Given the description of an element on the screen output the (x, y) to click on. 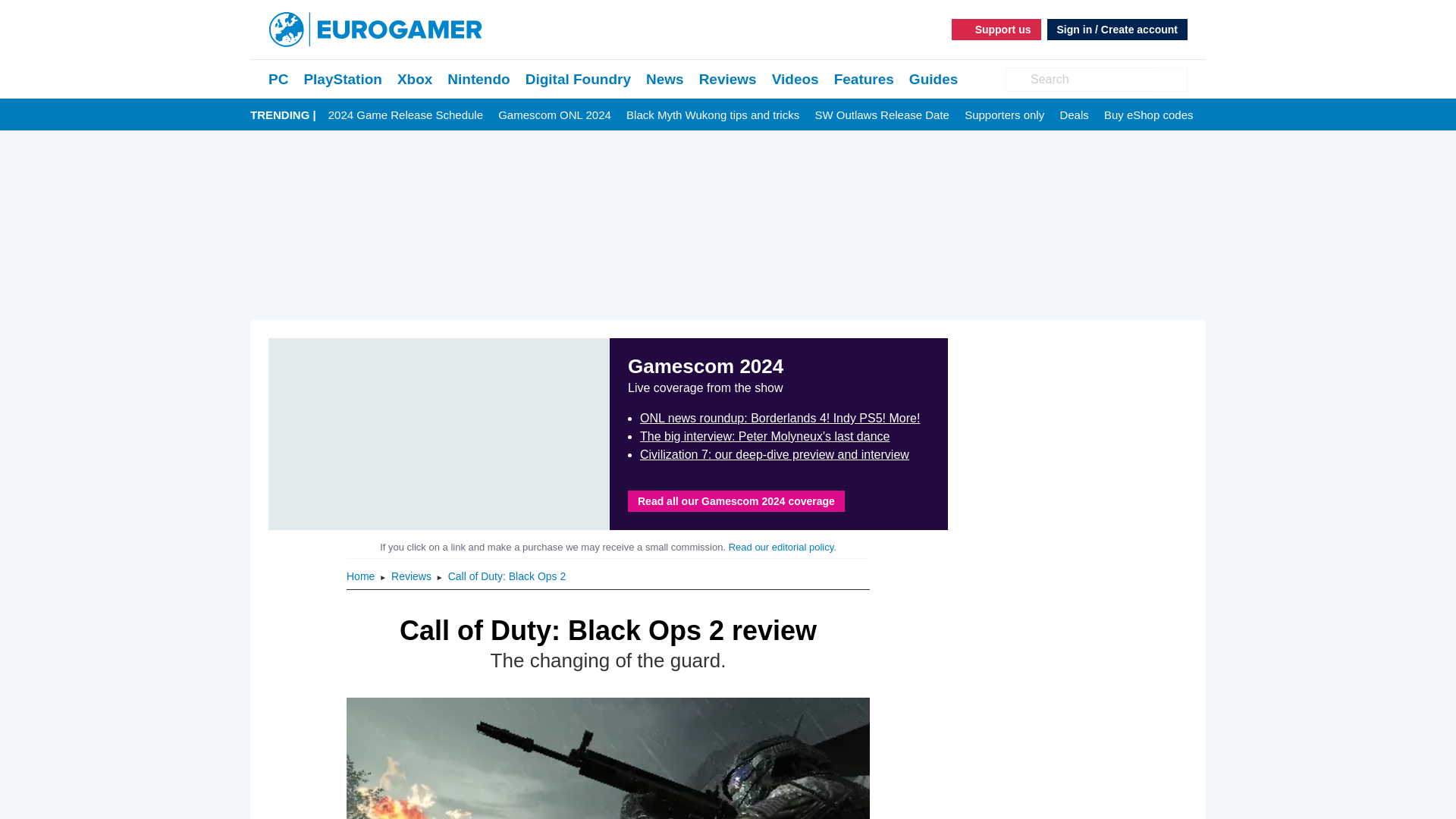
PlayStation (341, 78)
Xbox (414, 78)
Gamescom ONL 2024 (554, 114)
News (665, 78)
The big interview: Peter Molyneux's last dance (764, 436)
ONL news roundup: Borderlands 4! Indy PS5! More! (780, 418)
Buy eShop codes (1148, 114)
2024 Game Release Schedule (406, 114)
Guides (933, 78)
Civilization 7: our deep-dive preview and interview (774, 454)
